Given the description of an element on the screen output the (x, y) to click on. 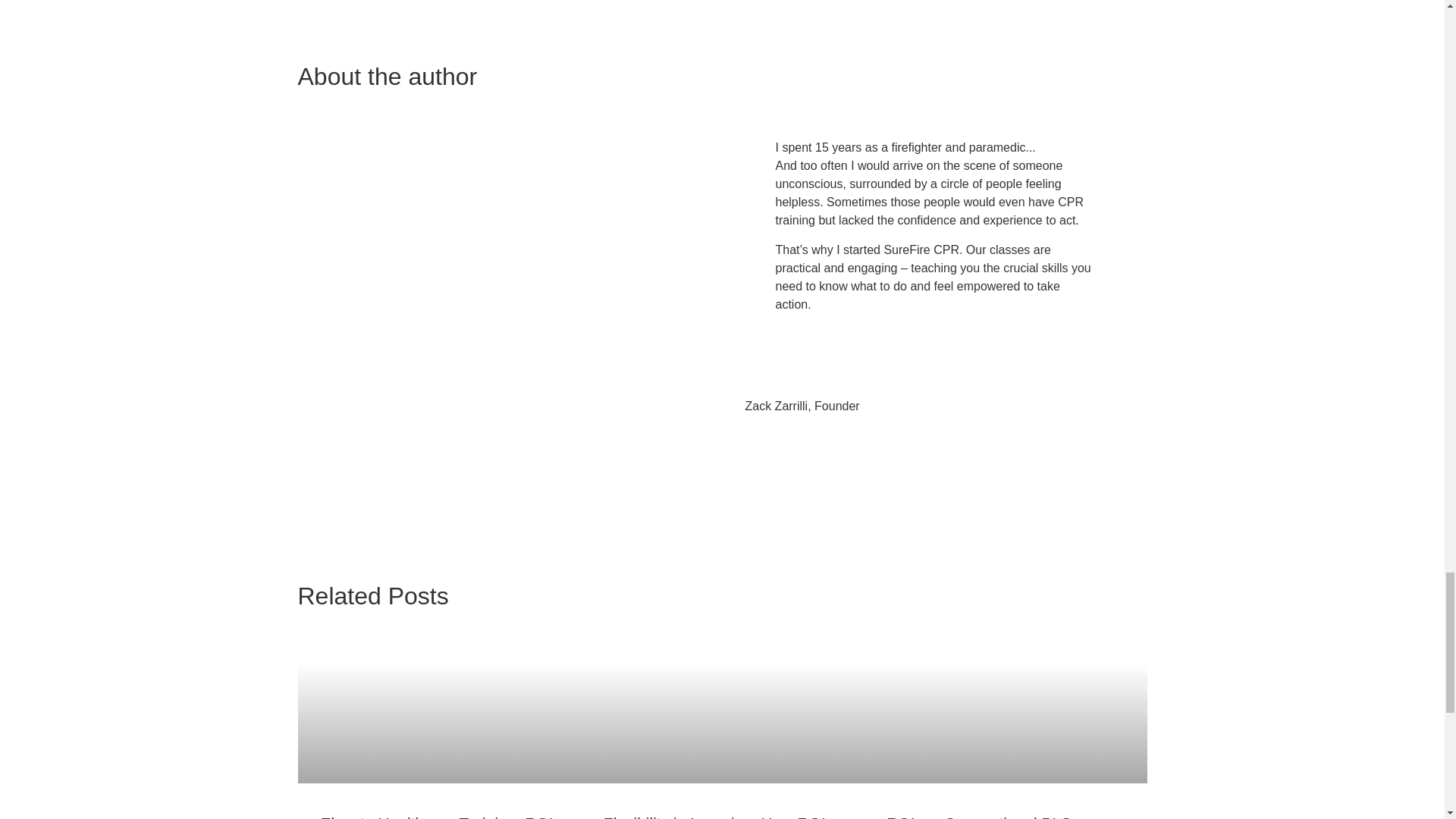
Get an Instant Quote (722, 23)
